Given the description of an element on the screen output the (x, y) to click on. 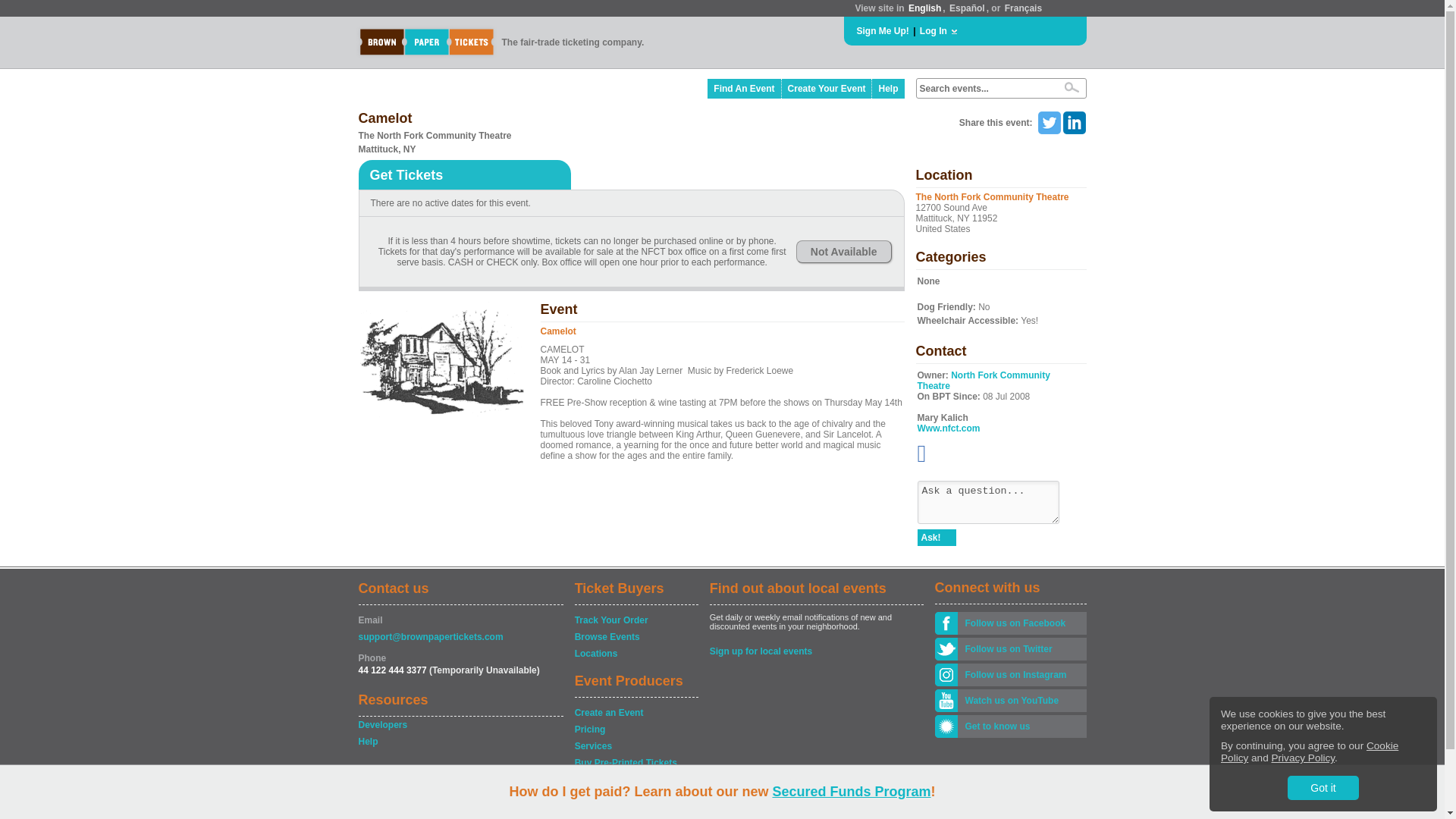
North Fork Community Theatre (983, 380)
Privacy Policy (1303, 757)
Got it (1322, 787)
Buy Pre-Printed Tickets (636, 762)
Locations (636, 653)
Got it (1322, 787)
English (924, 8)
Ask! (936, 537)
Not Available (843, 251)
Follow us on Facebook (1021, 622)
Sign up for local events (816, 651)
Log In (933, 30)
Track Your Order (636, 620)
Secured Funds Program (850, 791)
The Venue List (636, 779)
